Given the description of an element on the screen output the (x, y) to click on. 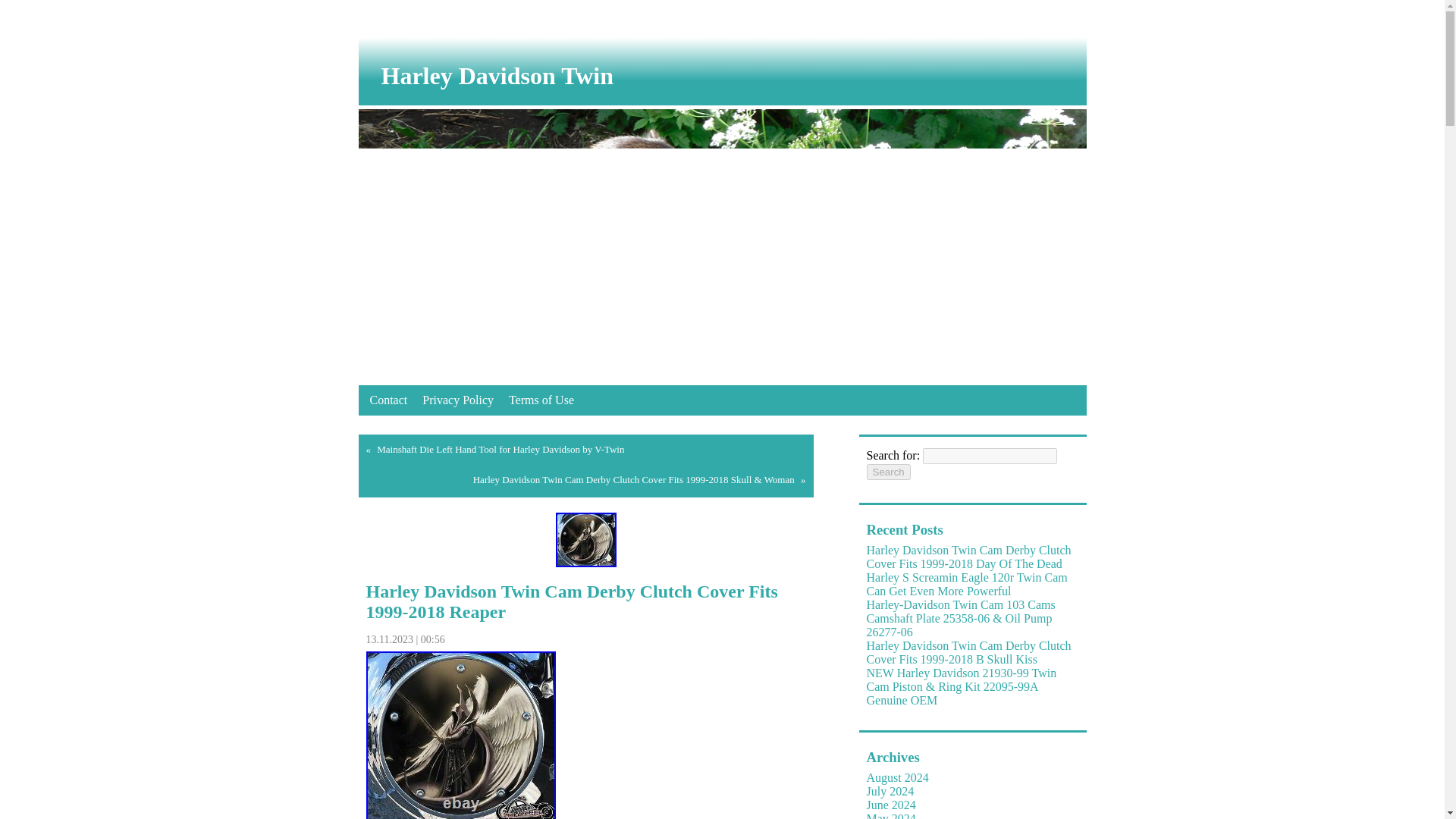
June 2024 (890, 804)
May 2024 (890, 815)
Search (888, 471)
August 2024 (897, 777)
Privacy Policy (457, 399)
Terms of Use (540, 399)
Search (888, 471)
Harley Davidson Twin (733, 76)
Mainshaft Die Left Hand Tool for Harley Davidson by V-Twin (499, 448)
Contact (388, 399)
July 2024 (890, 790)
